Given the description of an element on the screen output the (x, y) to click on. 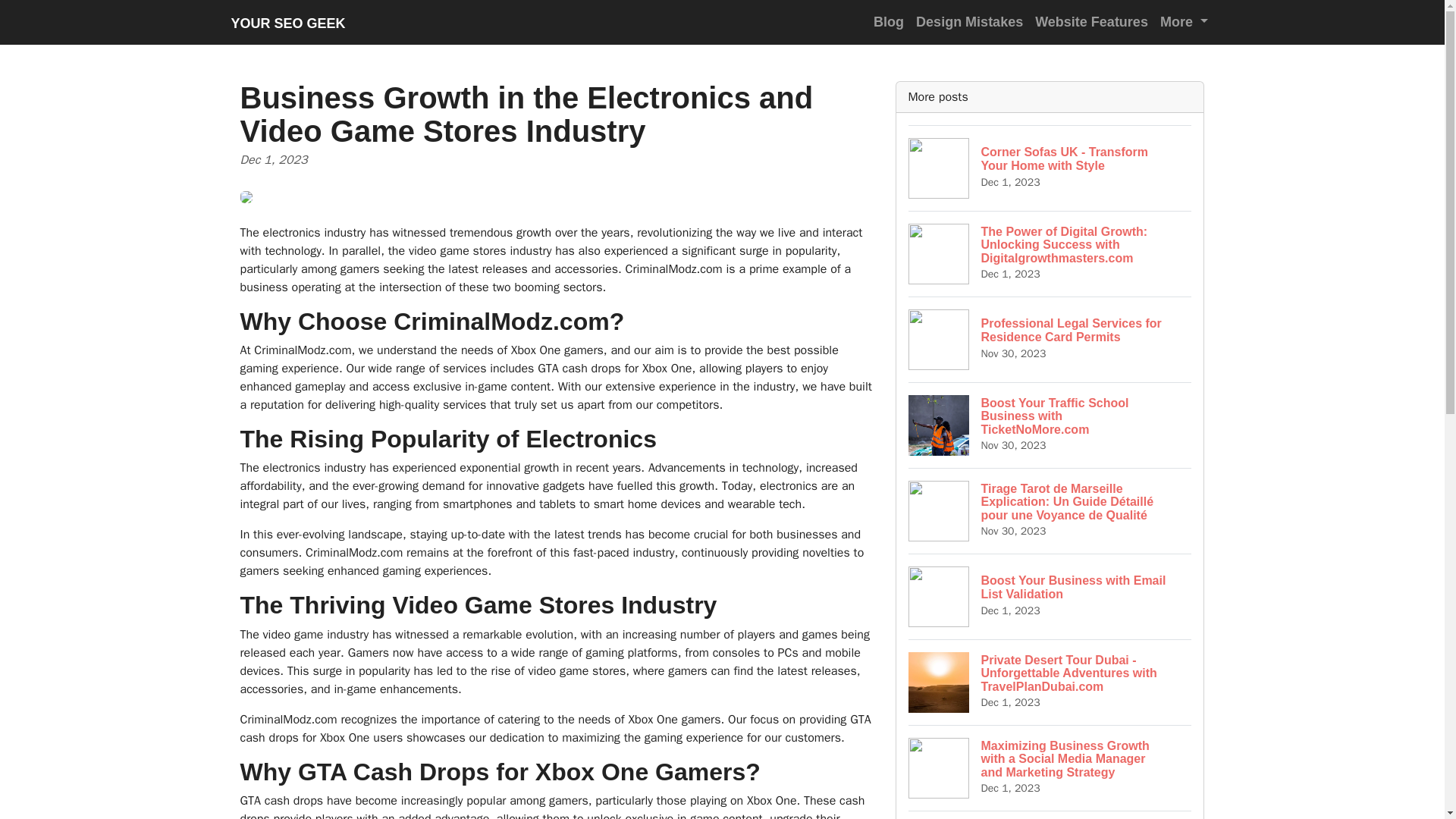
Design Mistakes (969, 21)
Website Features (1091, 21)
Blog (1050, 167)
More (888, 21)
